Given the description of an element on the screen output the (x, y) to click on. 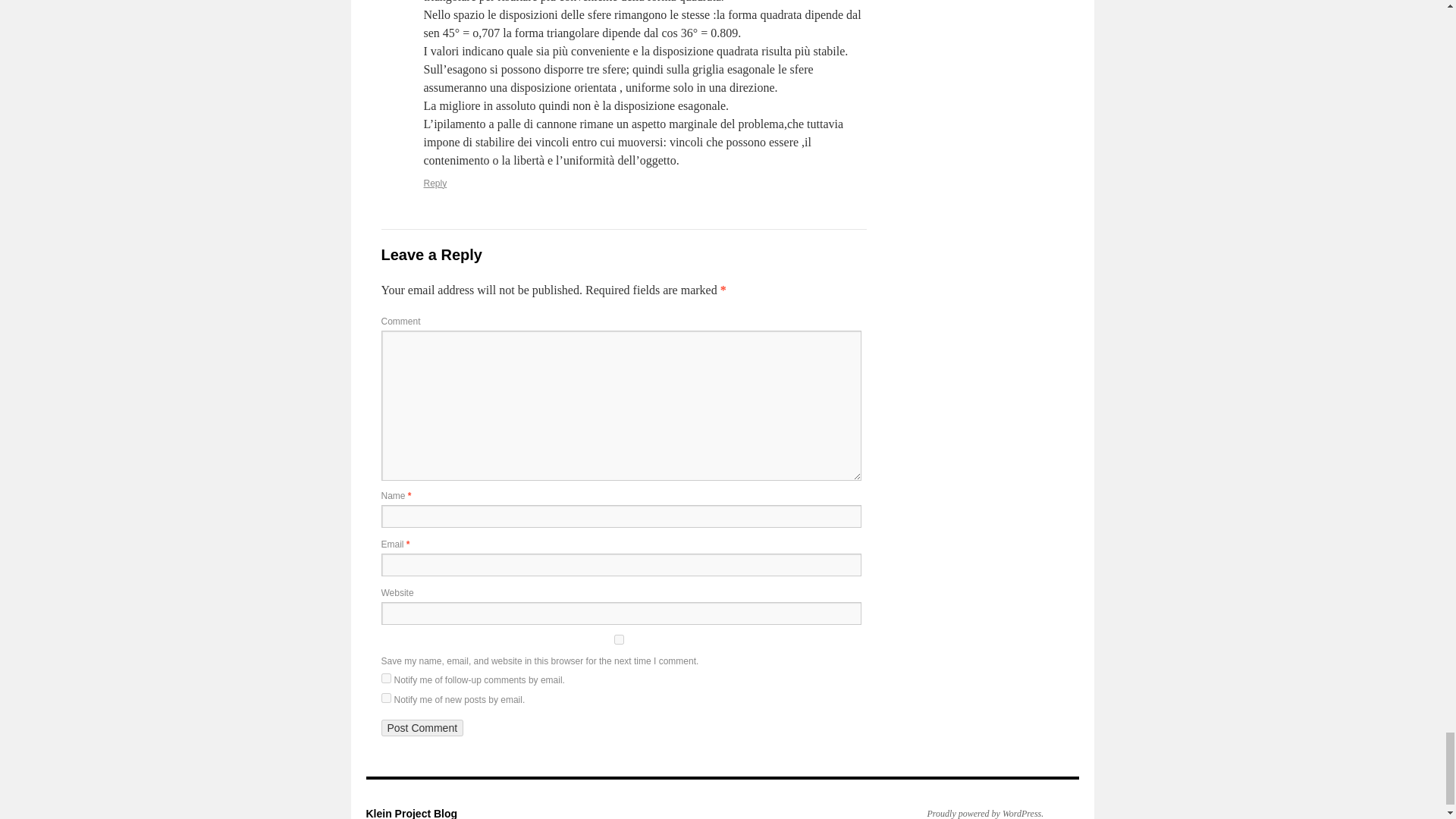
Reply (434, 183)
Post Comment (421, 727)
subscribe (385, 697)
yes (618, 639)
Post Comment (421, 727)
subscribe (385, 678)
